Given the description of an element on the screen output the (x, y) to click on. 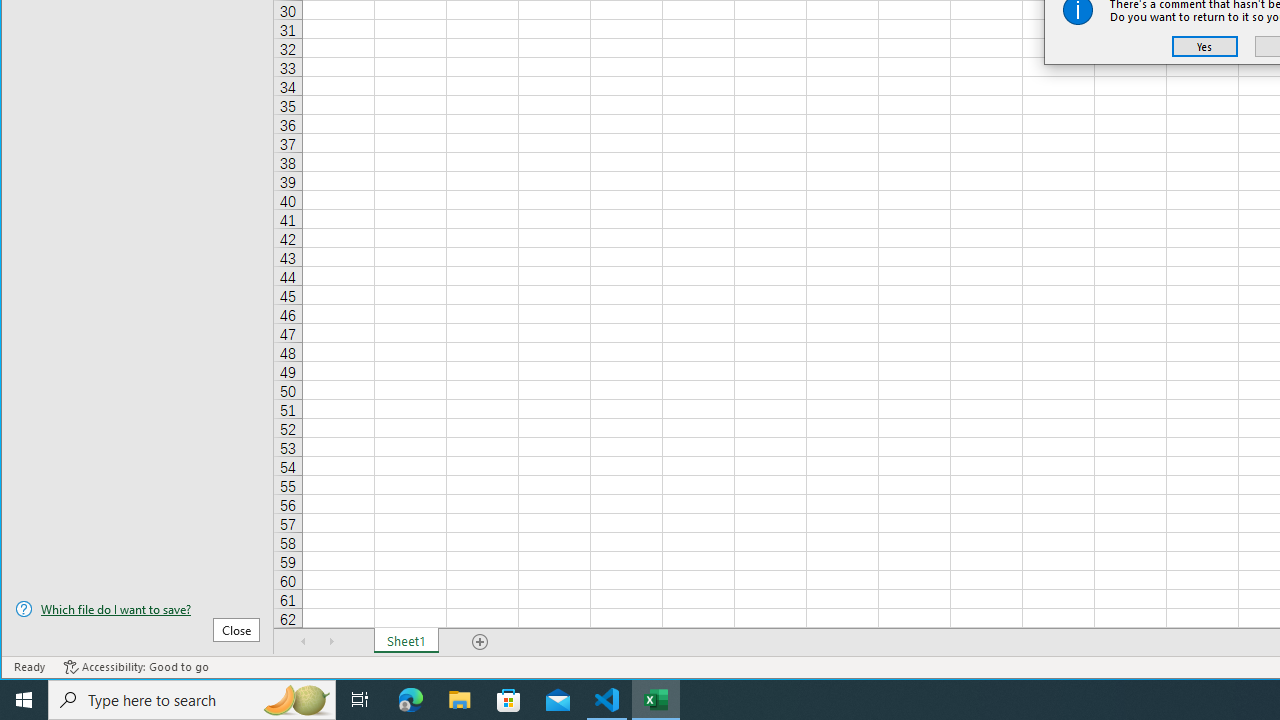
File Explorer (460, 699)
Microsoft Edge (411, 699)
Accessibility Checker Accessibility: Good to go (136, 667)
Excel - 1 running window (656, 699)
Start (24, 699)
Which file do I want to save? (137, 609)
Yes (1205, 46)
Visual Studio Code - 1 running window (607, 699)
Type here to search (191, 699)
Microsoft Store (509, 699)
